Given the description of an element on the screen output the (x, y) to click on. 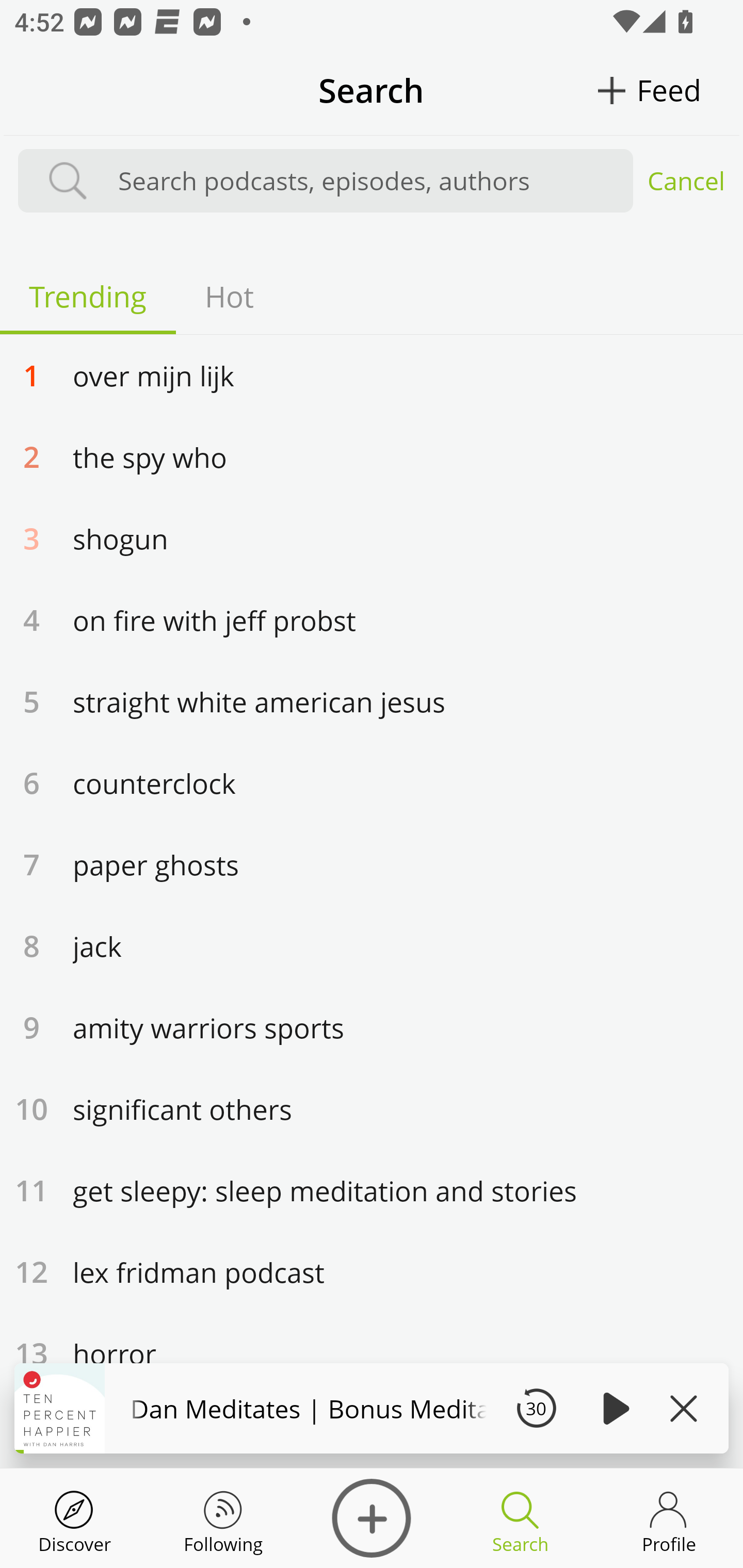
Feed (668, 90)
Cancel (686, 180)
Search podcasts, episodes, authors (366, 180)
Trending (88, 295)
Hot (229, 295)
1 over mijn lijk (371, 374)
2 the spy who (371, 456)
3 shogun (371, 537)
4 on fire with jeff probst (371, 619)
5 straight white american jesus (371, 700)
6 counterclock (371, 782)
7 paper ghosts (371, 863)
8 jack (371, 945)
9 amity warriors sports (371, 1026)
10 significant others (371, 1108)
11 get sleepy: sleep meditation and stories (371, 1189)
12 lex fridman podcast (371, 1271)
Play (613, 1407)
30 Seek Backward (536, 1407)
Discover (74, 1518)
Discover Following (222, 1518)
Discover (371, 1518)
Discover Profile (668, 1518)
